Given the description of an element on the screen output the (x, y) to click on. 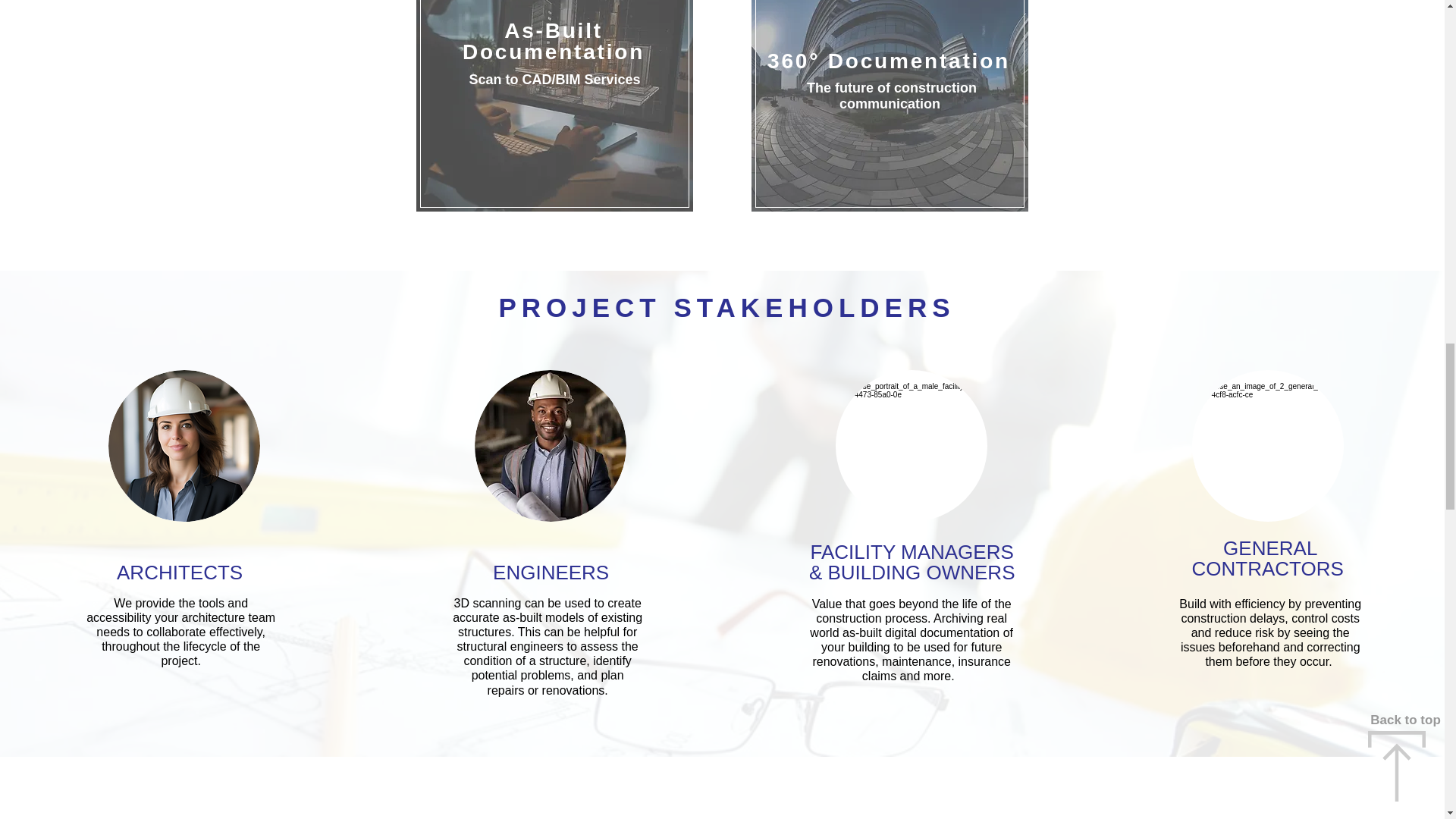
GettyImages-124893619.jpg (550, 445)
GettyImages-145680711.jpg (1267, 445)
GettyImages-145680711.jpg (911, 445)
GettyImages-535587703.jpg (183, 445)
